Given the description of an element on the screen output the (x, y) to click on. 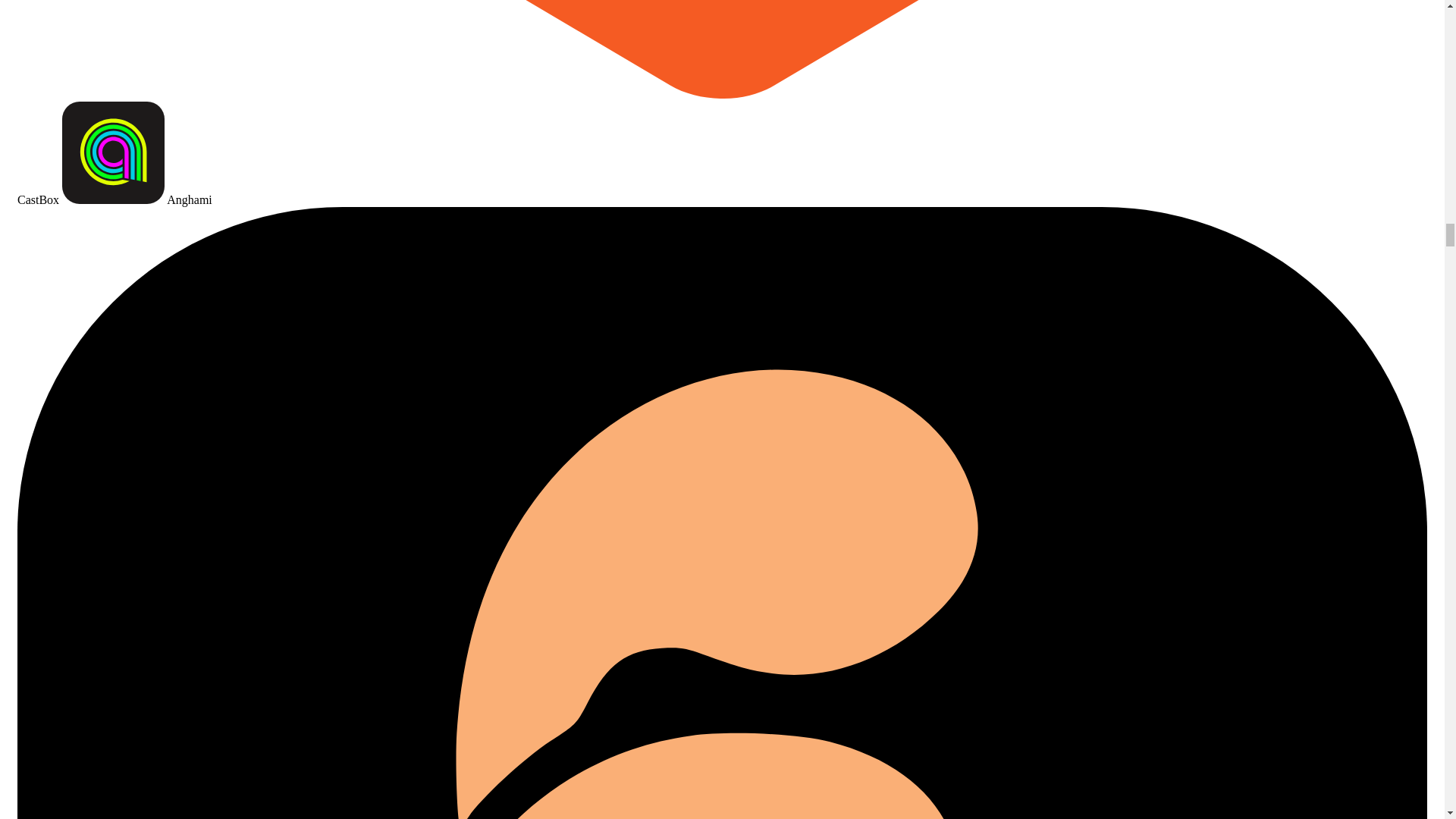
Anghami Anghami (137, 199)
